Given the description of an element on the screen output the (x, y) to click on. 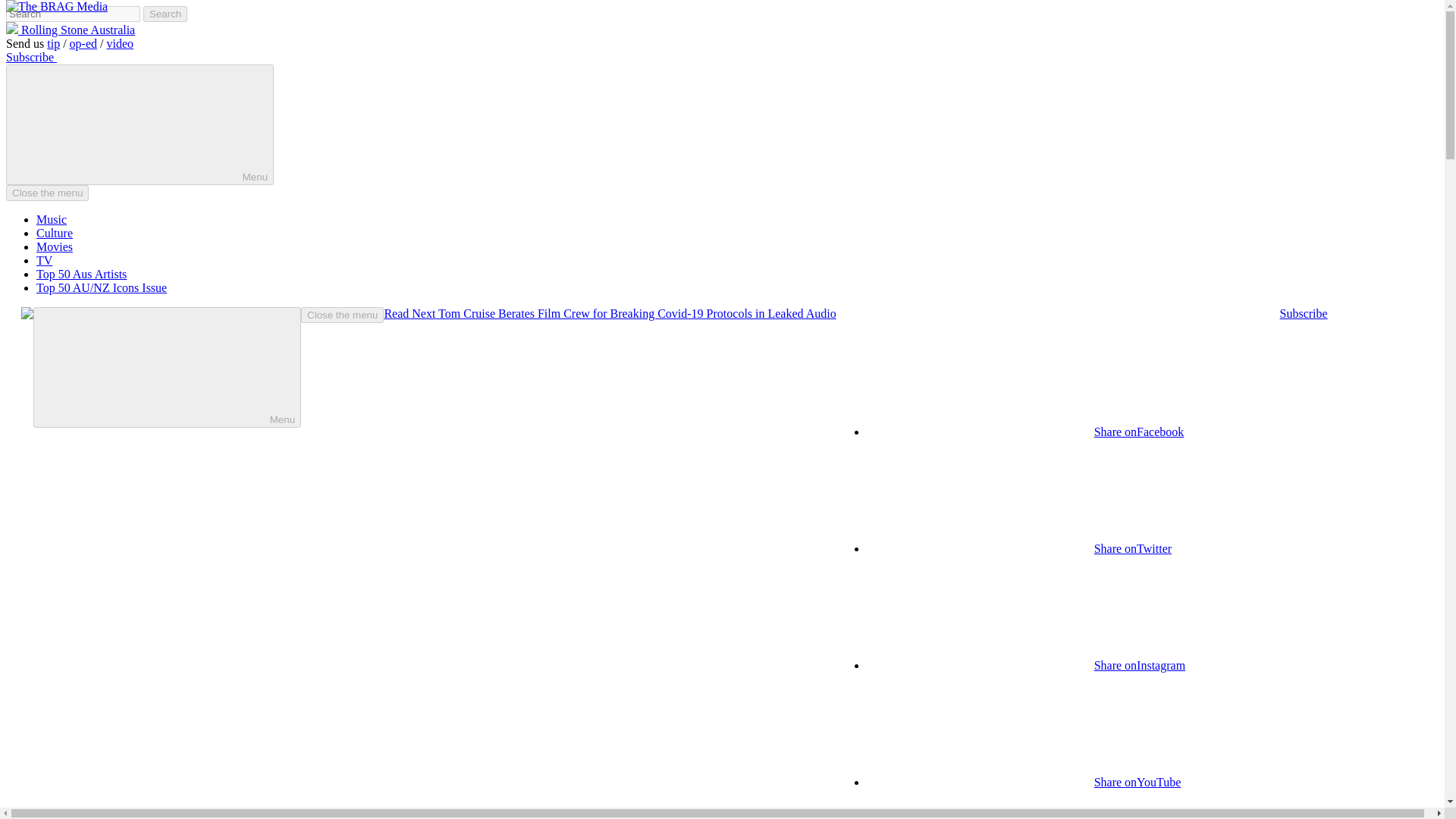
Menu (139, 124)
Subscribe (30, 56)
Close the menu (46, 192)
op-ed (83, 42)
Search (164, 13)
video (119, 42)
Rolling Stone Australia (70, 29)
tip (52, 42)
Search (164, 13)
